Given the description of an element on the screen output the (x, y) to click on. 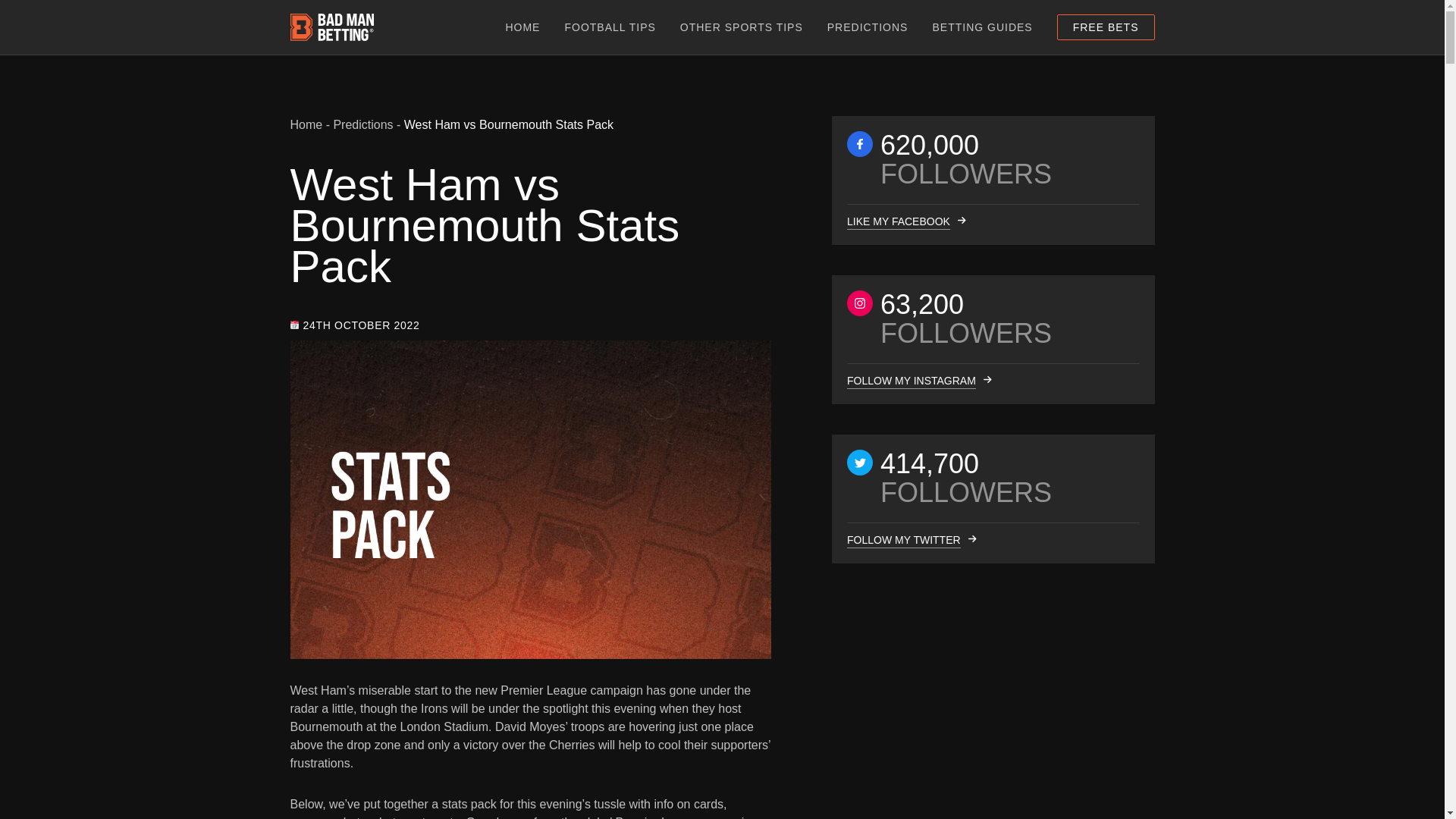
FOLLOW MY INSTAGRAM (910, 381)
BETTING GUIDES (981, 27)
HOME (522, 27)
Predictions (363, 124)
OTHER SPORTS TIPS (741, 27)
LIKE MY FACEBOOK (897, 221)
PREDICTIONS (867, 27)
Home (305, 124)
FREE BETS (1105, 27)
FOLLOW MY TWITTER (902, 539)
